Given the description of an element on the screen output the (x, y) to click on. 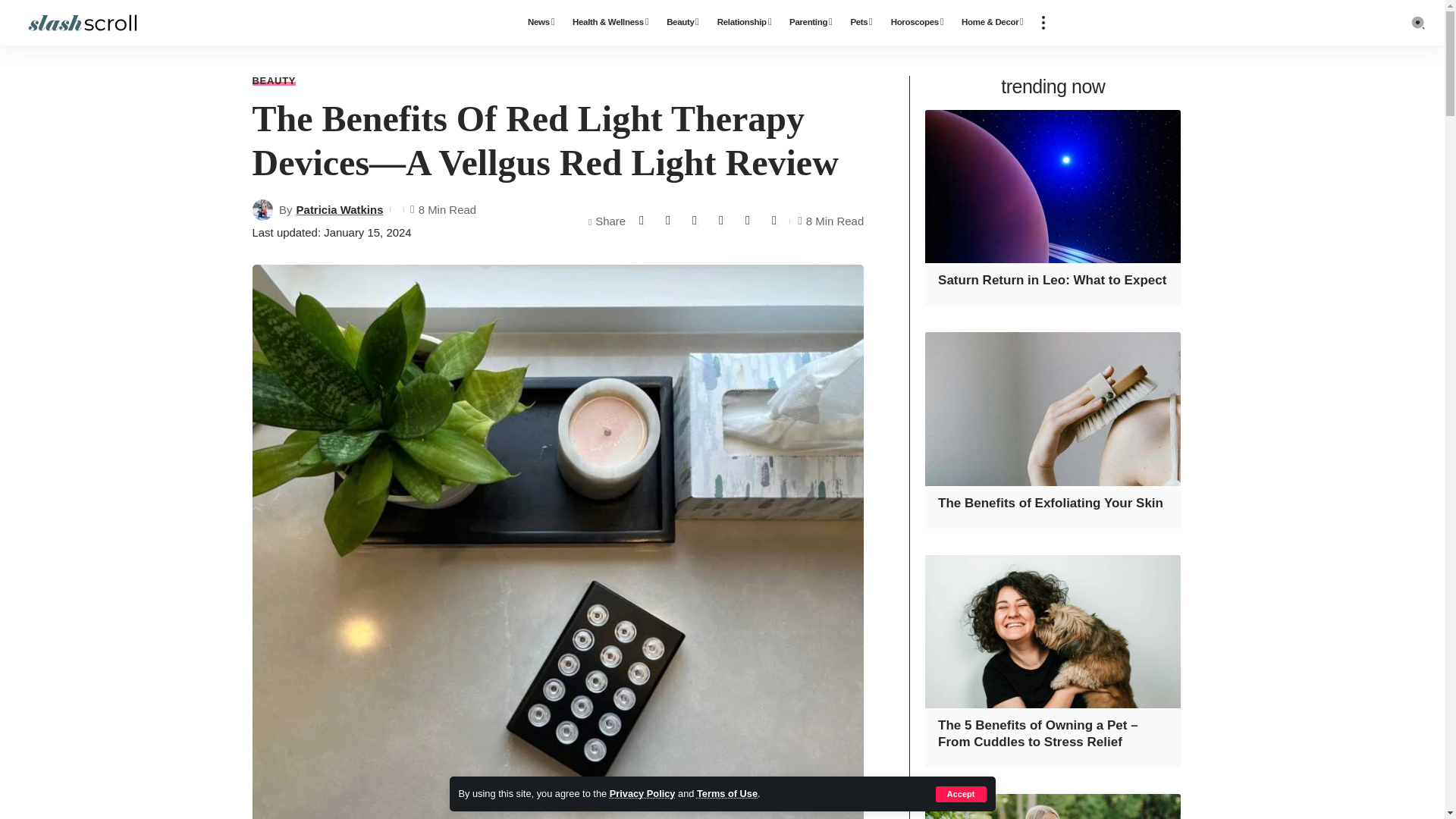
Terms of Use (727, 793)
Accept (961, 794)
Privacy Policy (642, 793)
News (540, 22)
Beauty (682, 22)
